Given the description of an element on the screen output the (x, y) to click on. 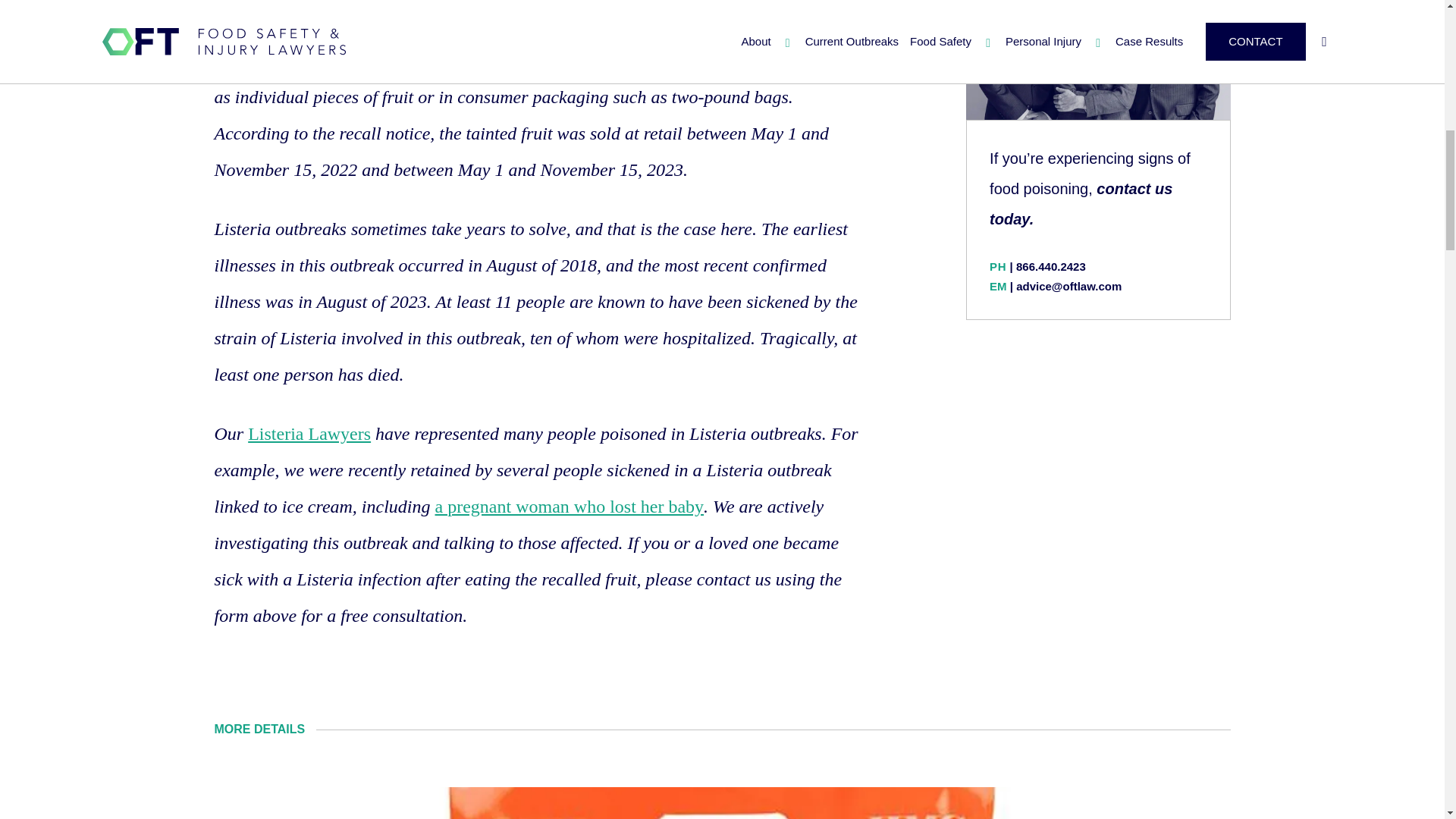
Email OFT Law Today (1068, 286)
Call OFT Law Today (1051, 266)
